Given the description of an element on the screen output the (x, y) to click on. 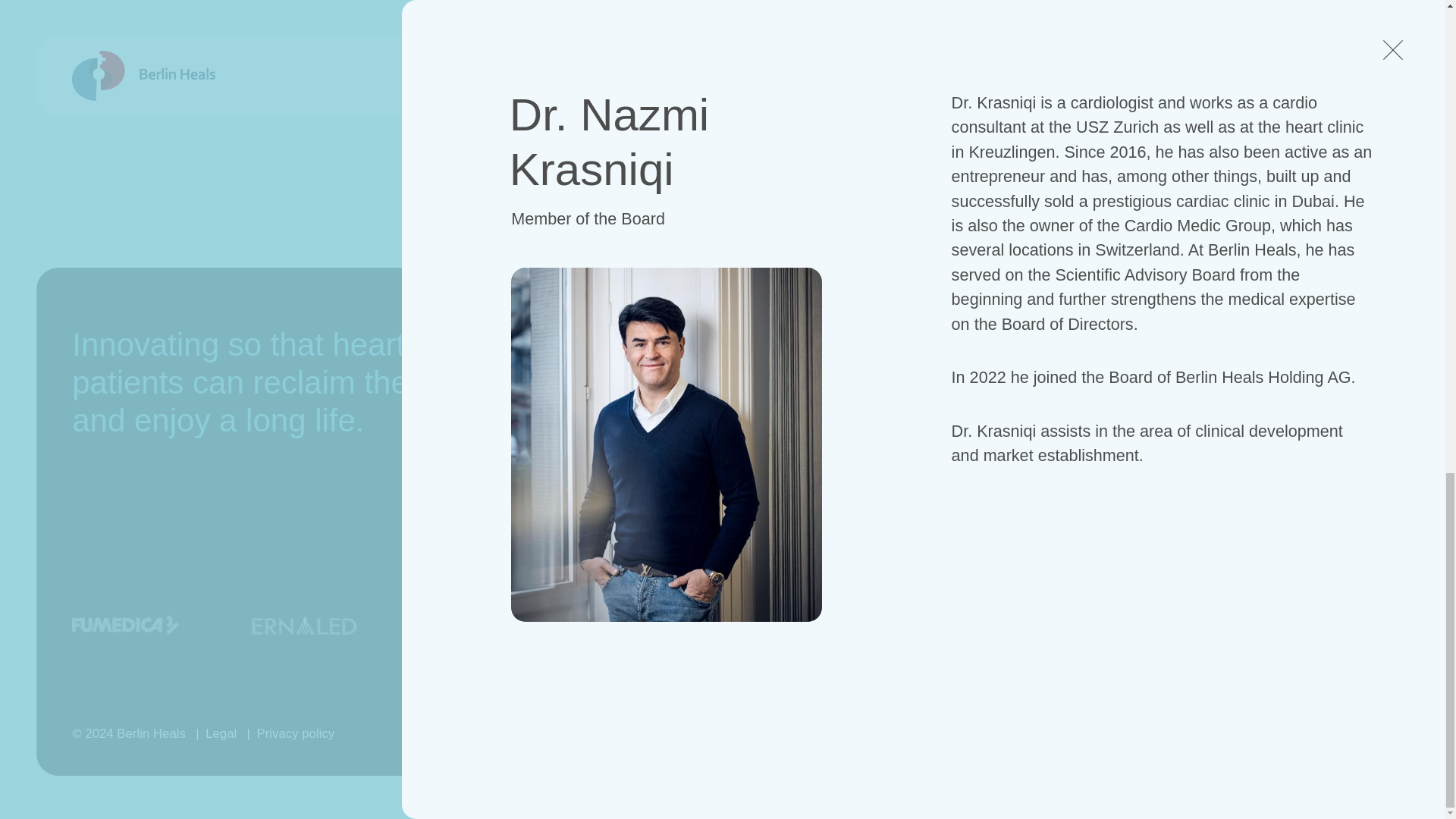
Legal (220, 732)
Our solution (994, 384)
Contact (758, 384)
Privacy policy (295, 732)
Jobs (747, 423)
Reach (1378, 709)
Twitter (1194, 384)
About us (982, 538)
LinkedIn (1200, 423)
Studies (977, 461)
